Given the description of an element on the screen output the (x, y) to click on. 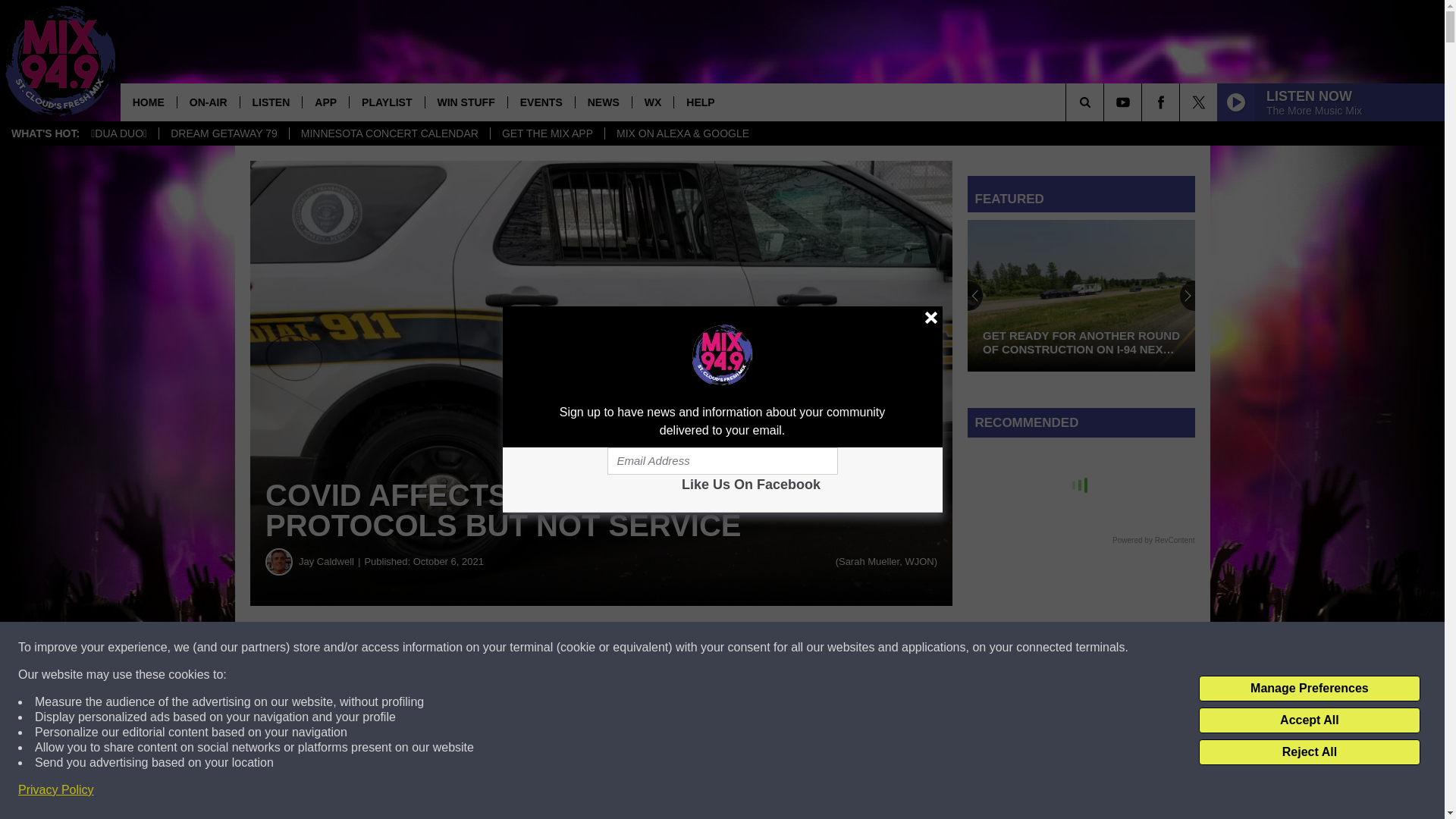
DREAM GETAWAY 79 (223, 133)
LISTEN (271, 102)
PLAYLIST (386, 102)
Manage Preferences (1309, 688)
WIN STUFF (465, 102)
Share on Twitter (741, 647)
HOME (148, 102)
Reject All (1309, 751)
APP (325, 102)
SEARCH (1106, 102)
SEARCH (1106, 102)
ON-AIR (208, 102)
MINNESOTA CONCERT CALENDAR (388, 133)
Email Address (722, 461)
Privacy Policy (55, 789)
